Given the description of an element on the screen output the (x, y) to click on. 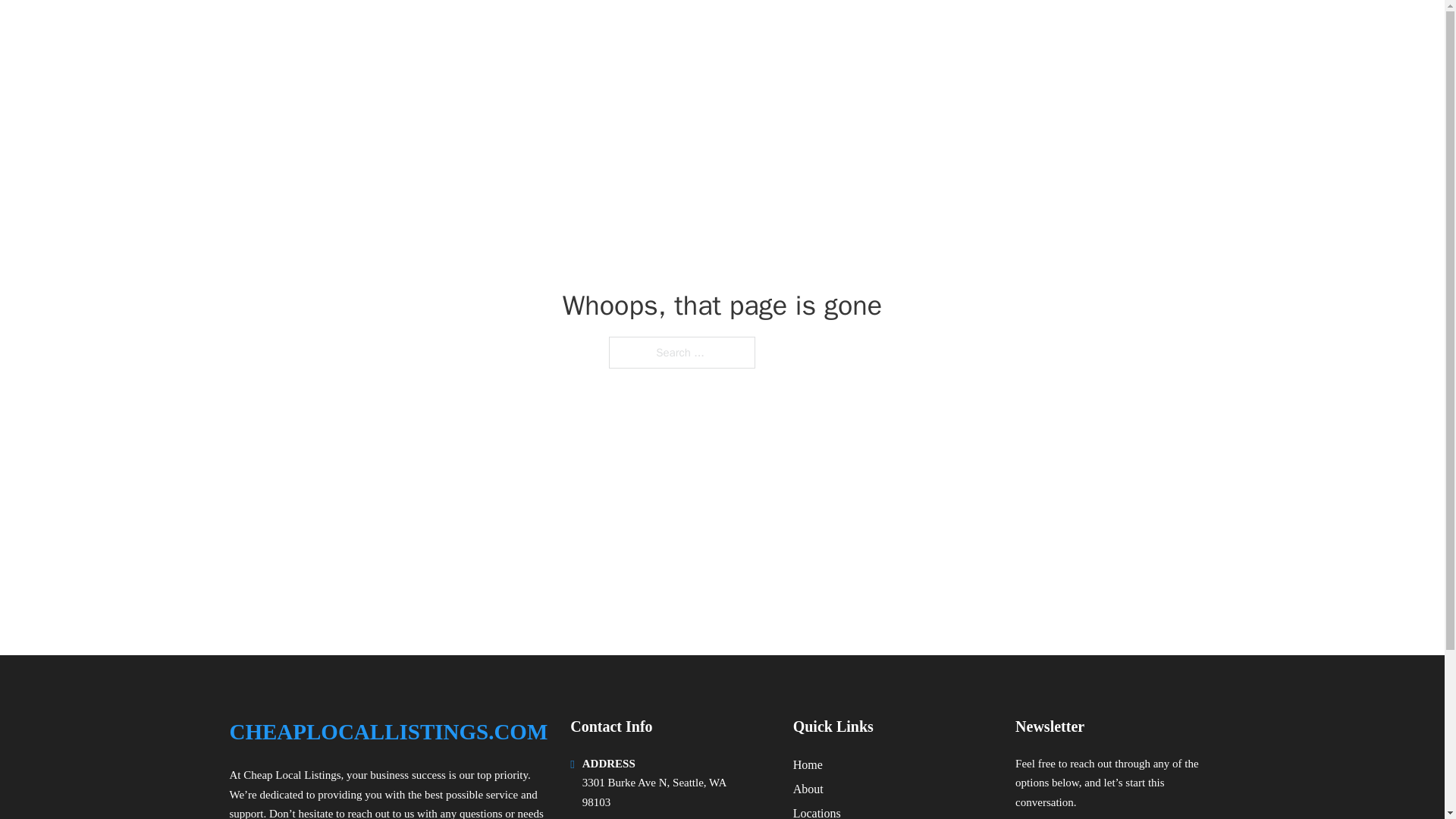
CHEAPLOCALLISTINGS.COM (403, 31)
Home (807, 764)
LOCATIONS (1098, 31)
About (808, 788)
HOME (1025, 31)
Locations (817, 811)
CHEAPLOCALLISTINGS.COM (387, 732)
